Given the description of an element on the screen output the (x, y) to click on. 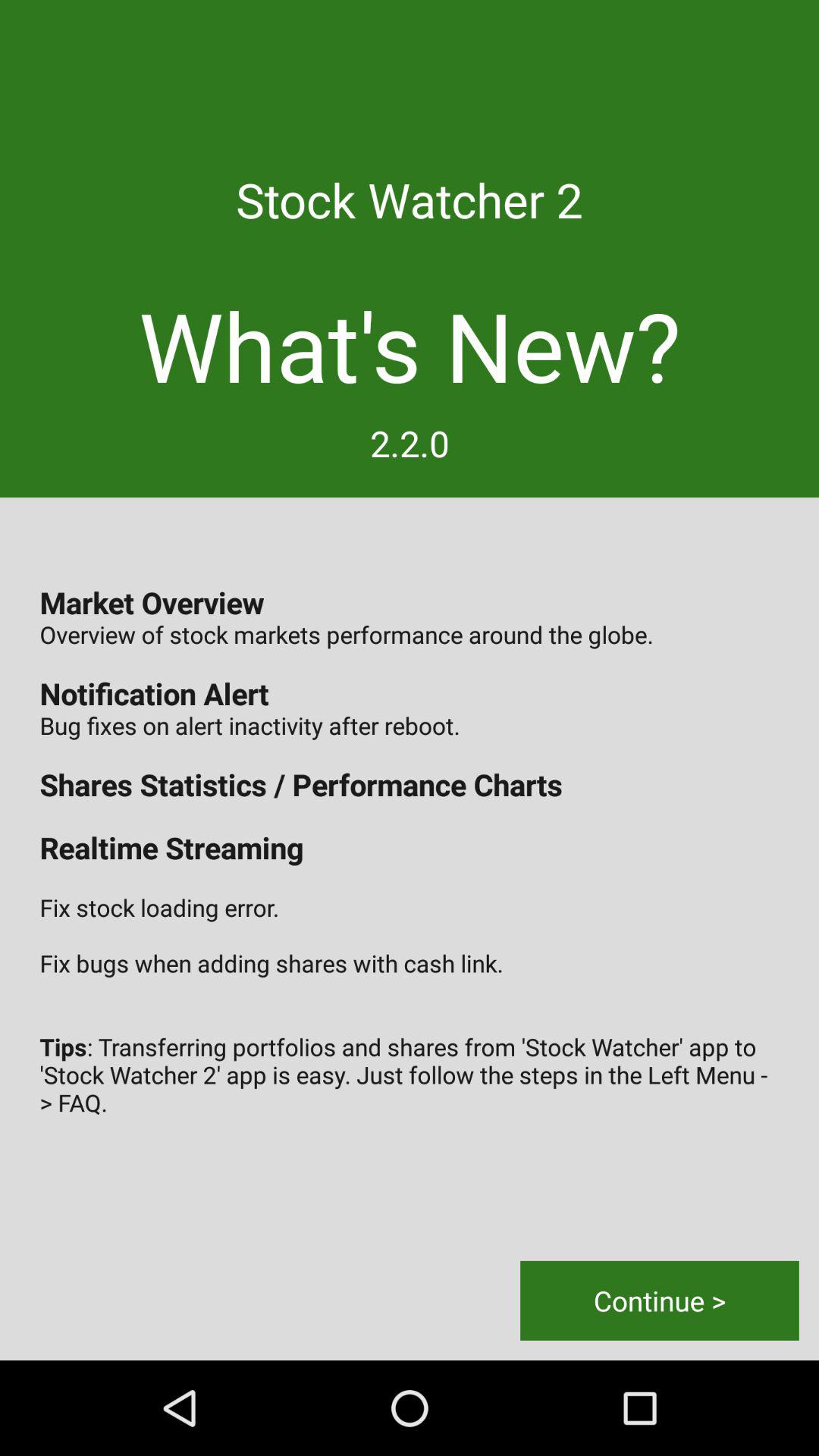
click continue > button (659, 1300)
